Given the description of an element on the screen output the (x, y) to click on. 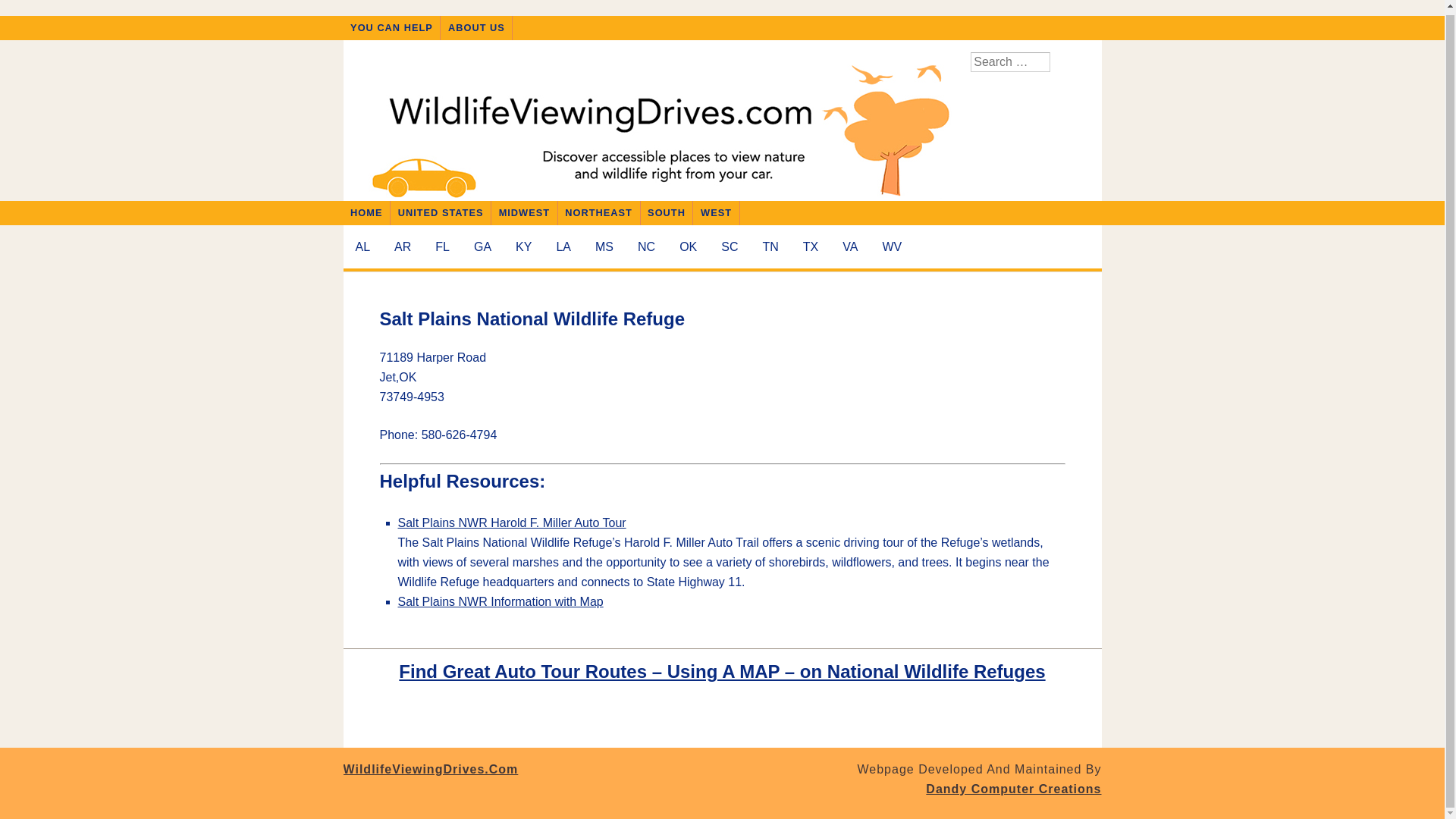
OK (687, 246)
Salt Plains NWR Harold F. Miller Auto Tour (511, 522)
VA (849, 246)
Salt Plains NWR Information with Map (499, 601)
KY (523, 246)
YOU CAN HELP (391, 27)
SOUTH (666, 212)
HOME (366, 212)
ABOUT US (476, 27)
LA (563, 246)
FL (442, 246)
UNITED STATES (441, 212)
SC (728, 246)
NORTHEAST (598, 212)
WEST (716, 212)
